Given the description of an element on the screen output the (x, y) to click on. 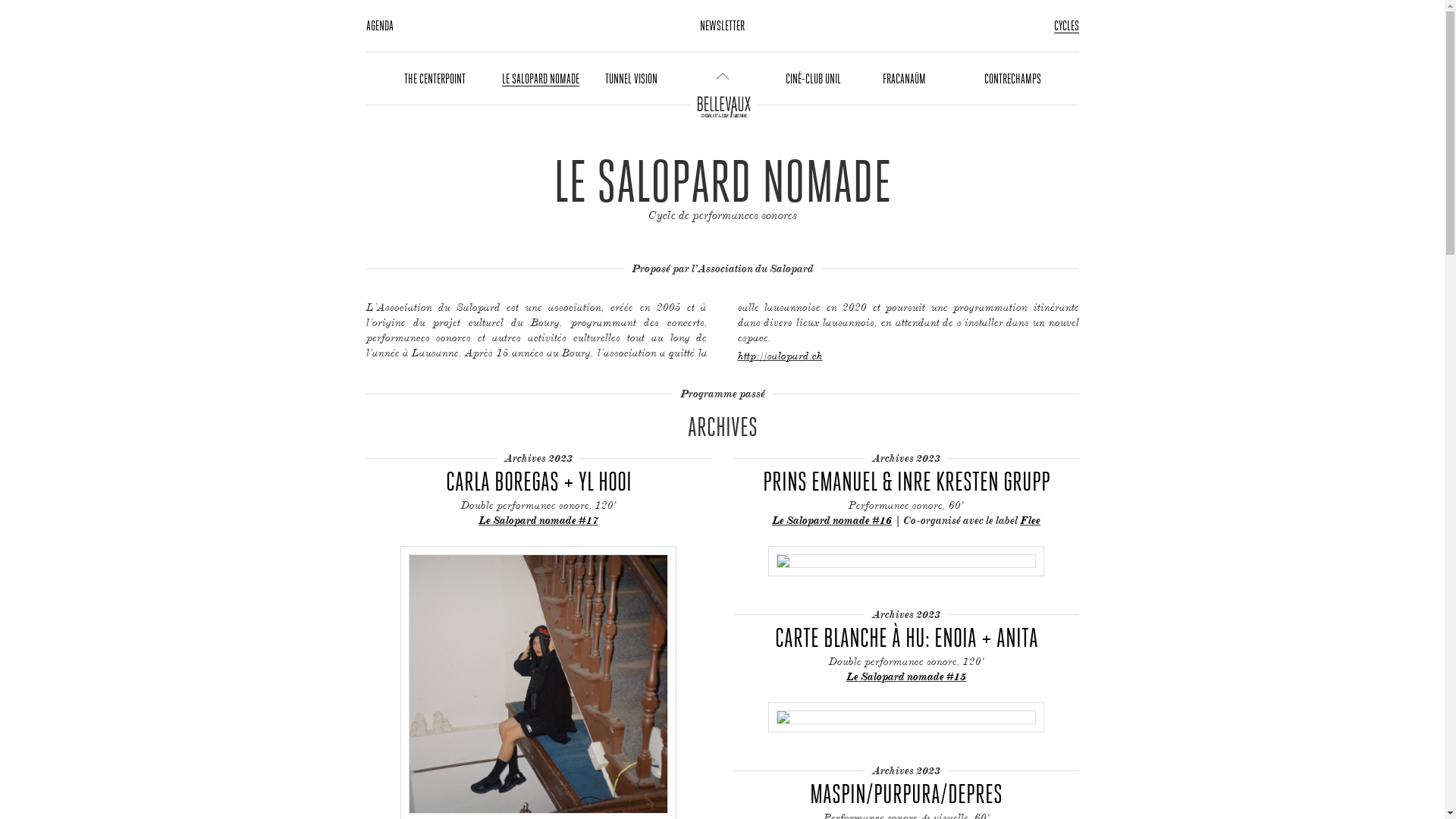
Le Salopard nomade #15 Element type: text (906, 675)
Le Salopard nomade #17 Element type: text (538, 519)
CARLA BOREGAS + YL HOOI Element type: text (537, 480)
LE SALOPARD NOMADE Element type: text (540, 78)
THE CENTERPOINT Element type: text (433, 78)
AGENDA Element type: text (378, 25)
TUNNEL VISION Element type: text (631, 78)
MASPIN/PURPURA/DEPRES Element type: text (906, 792)
PRINS EMANUEL & INRE KRESTEN GRUPP Element type: text (906, 480)
Le Salopard nomade #16 Element type: text (831, 519)
Flee Element type: text (1029, 520)
NEWSLETTER Element type: text (721, 25)
http://salopard.ch Element type: text (779, 355)
CONTRECHAMPS Element type: text (1012, 78)
CYCLES Element type: text (1066, 25)
